Given the description of an element on the screen output the (x, y) to click on. 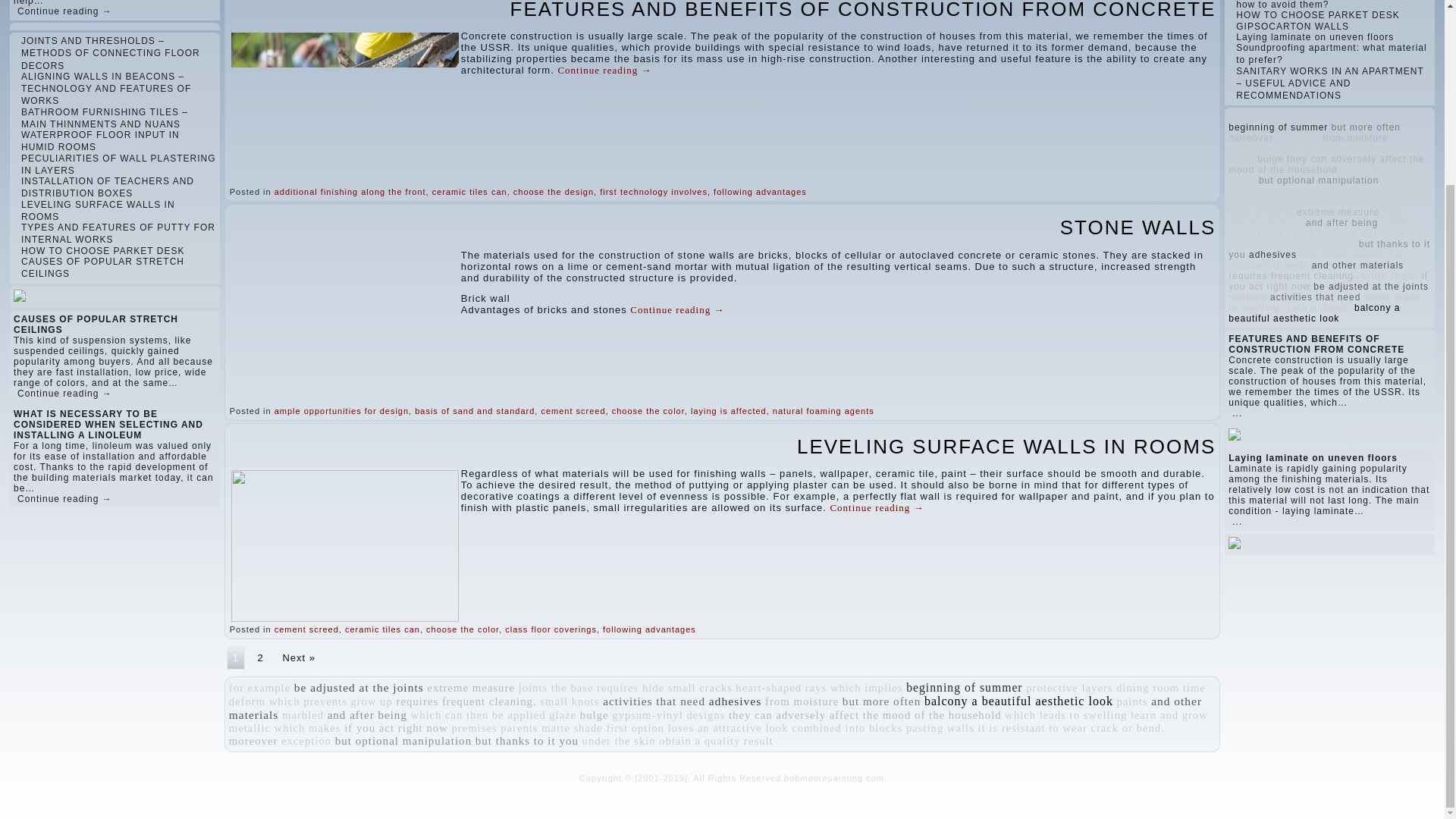
PECULIARITIES OF WALL PLASTERING IN LAYERS (118, 164)
choose the design (553, 191)
HOW TO CHOOSE PARKET DESK (102, 250)
choose the color (647, 410)
INSTALLATION OF TEACHERS AND DISTRIBUTION BOXES (107, 187)
first technology involves (653, 191)
following advantages (759, 191)
FEATURES AND BENEFITS OF CONSTRUCTION FROM CONCRETE (863, 10)
TYPES AND FEATURES OF PUTTY FOR INTERNAL WORKS (118, 232)
STONE WALLS (1137, 227)
additional finishing along the front (350, 191)
ample opportunities for design (342, 410)
INSTALLATION OF TEACHERS AND DISTRIBUTION BOXES (107, 187)
ceramic tiles can (469, 191)
basis of sand and standard (474, 410)
